Given the description of an element on the screen output the (x, y) to click on. 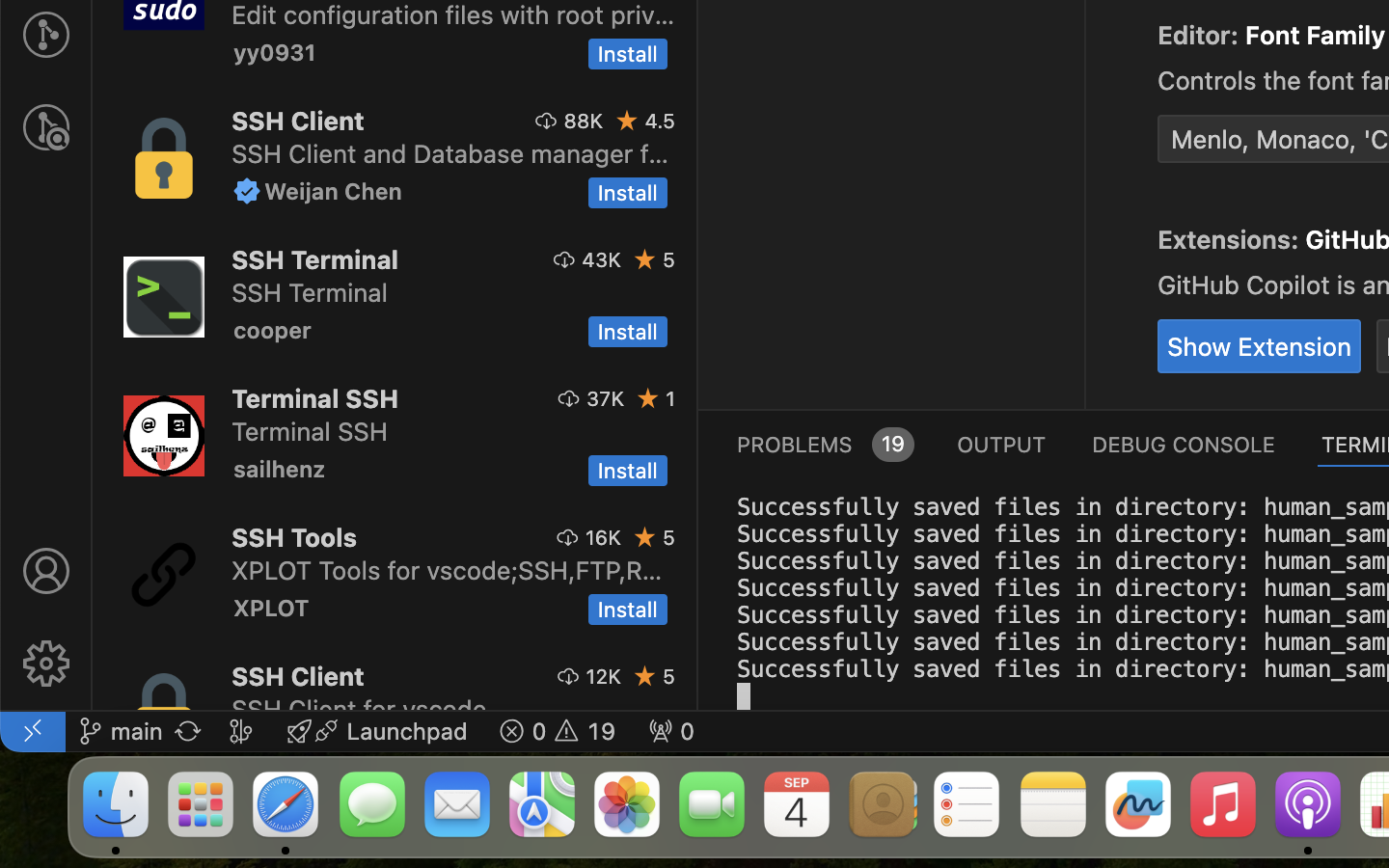
43K Element type: AXStaticText (601, 258)
 0 Element type: AXButton (671, 730)
 Element type: AXStaticText (1108, 30)
Terminal SSH Element type: AXStaticText (315, 397)
16K Element type: AXStaticText (602, 536)
